Given the description of an element on the screen output the (x, y) to click on. 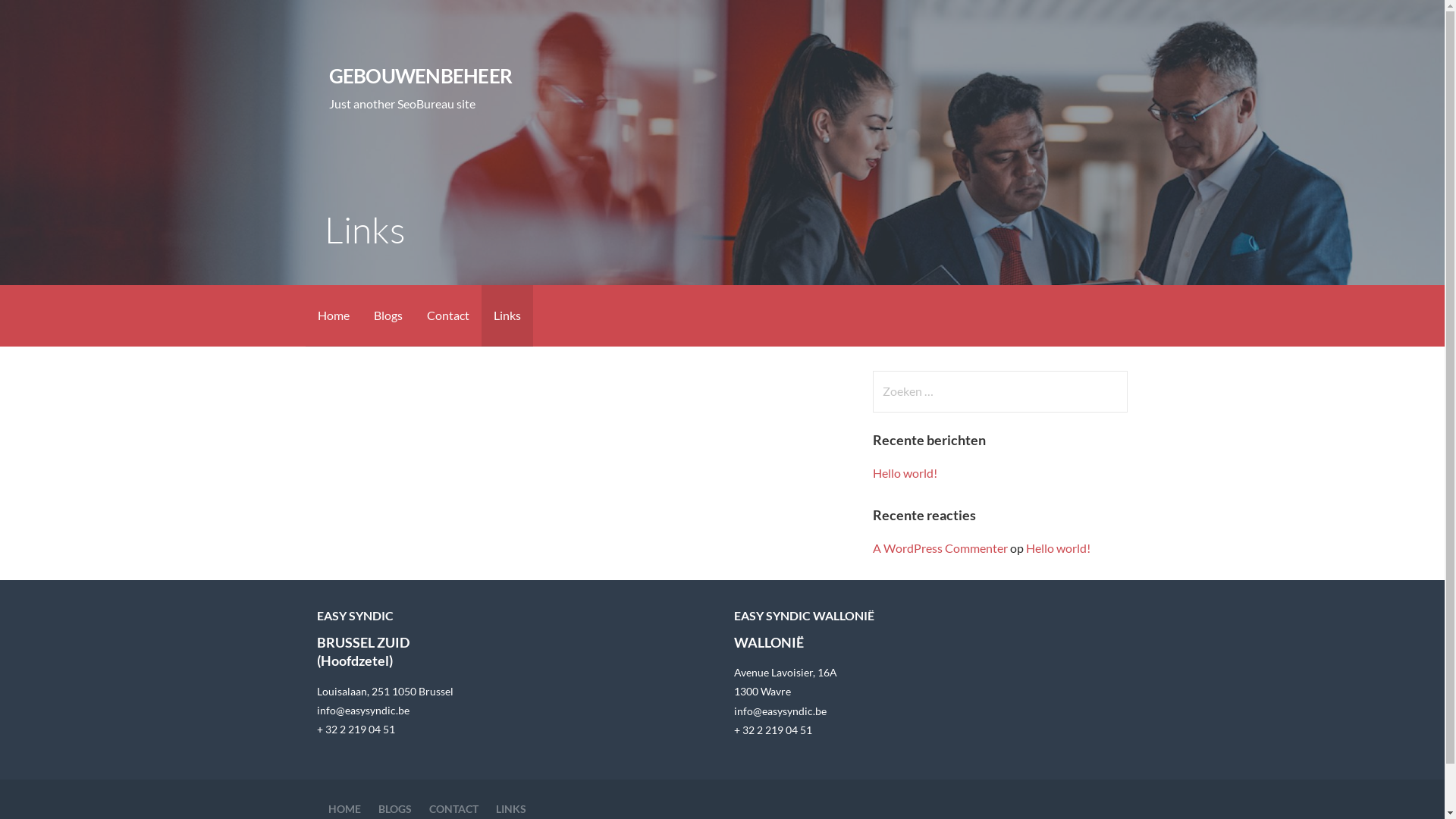
Hello world! Element type: text (904, 472)
Hello world! Element type: text (1058, 547)
Blogs Element type: text (387, 315)
CONTACT Element type: text (453, 808)
Links Element type: text (506, 315)
Home Element type: text (332, 315)
Contact Element type: text (447, 315)
BLOGS Element type: text (394, 808)
HOME Element type: text (343, 808)
GEBOUWENBEHEER Element type: text (420, 75)
A WordPress Commenter Element type: text (939, 547)
LINKS Element type: text (510, 808)
Zoeken Element type: text (42, 18)
